Given the description of an element on the screen output the (x, y) to click on. 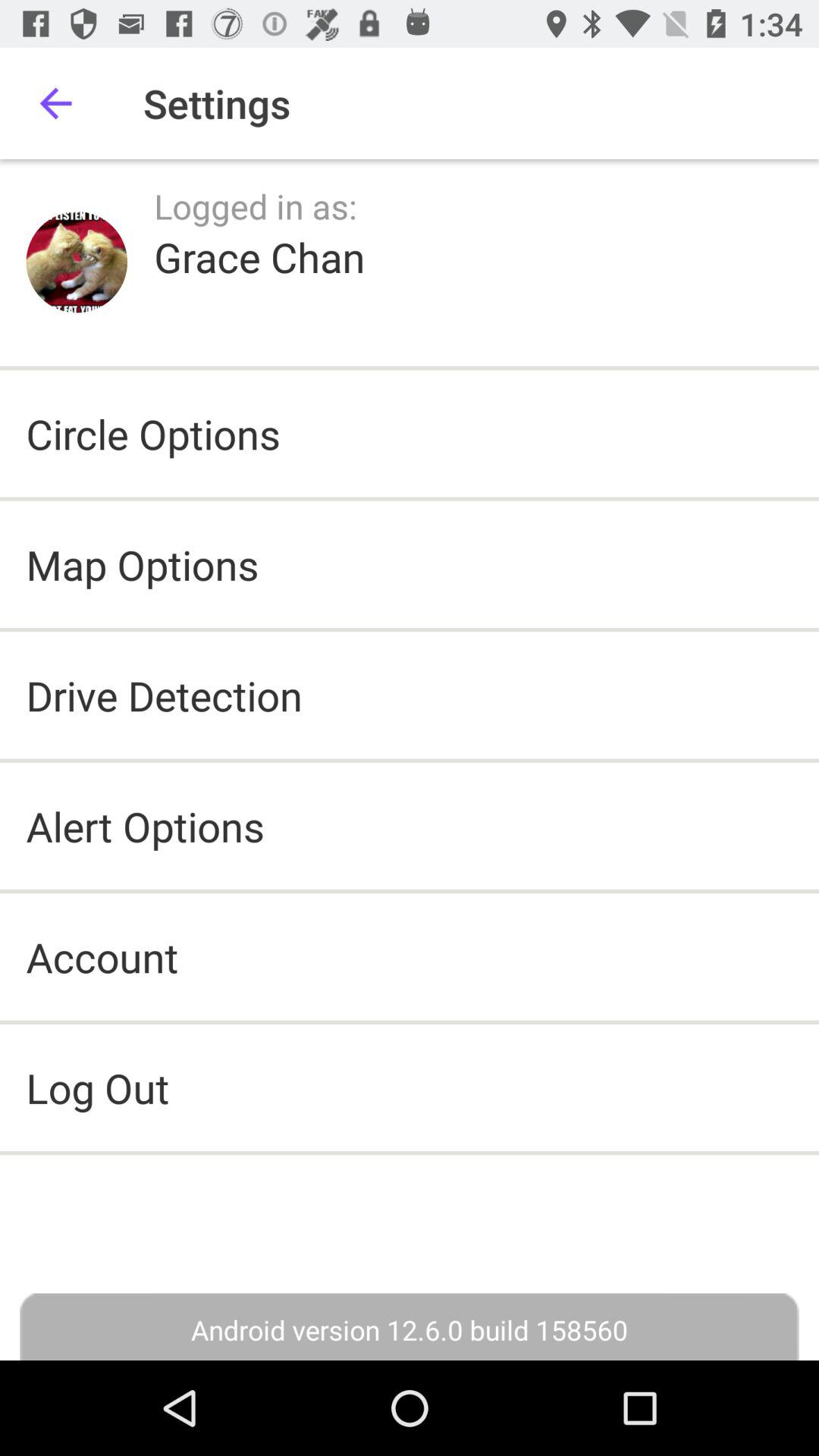
choose the icon below account icon (409, 1087)
